Given the description of an element on the screen output the (x, y) to click on. 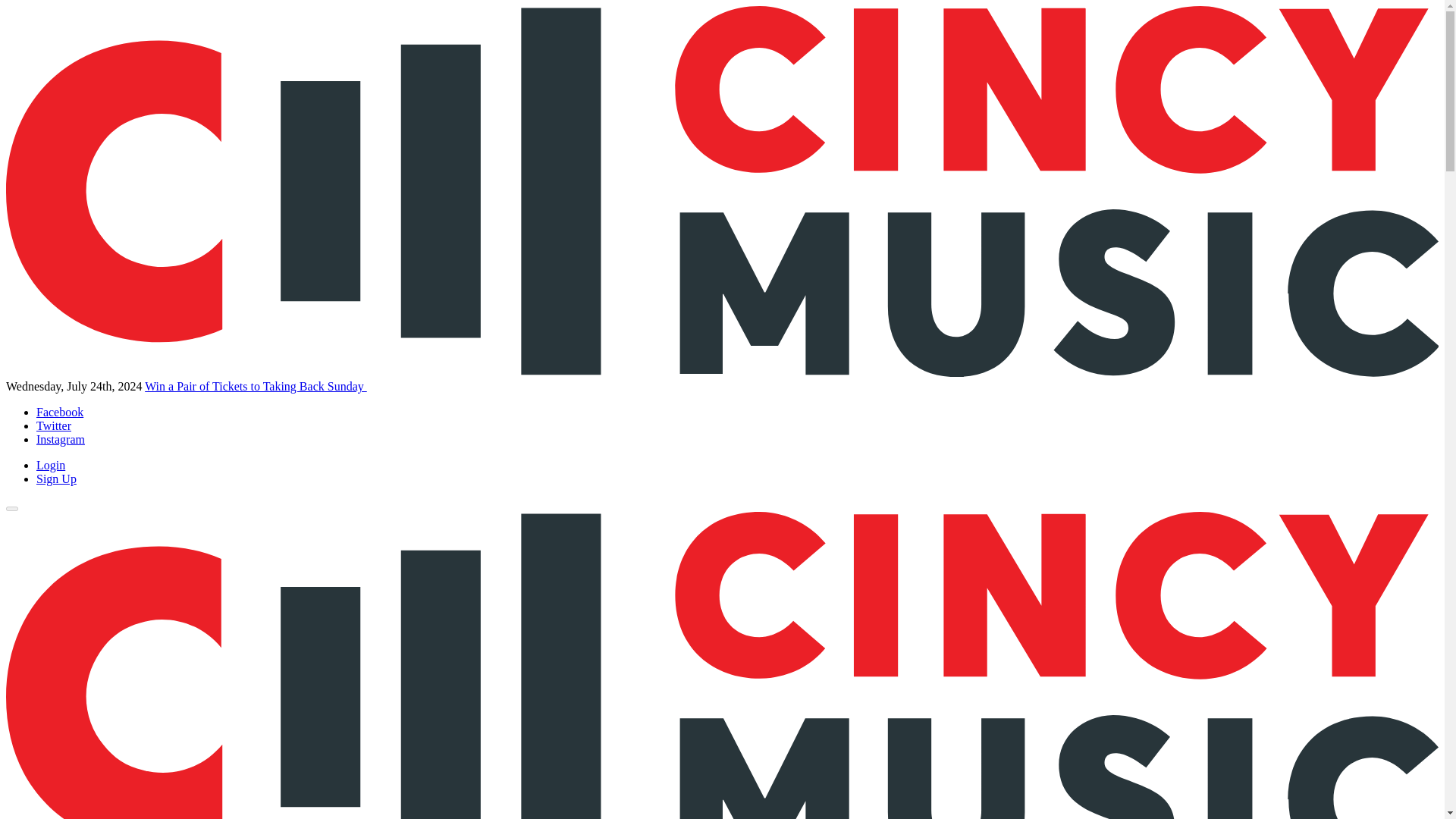
Instagram (60, 439)
Sign Up (56, 478)
Facebook (59, 411)
Login (50, 464)
Twitter (53, 425)
Win a Pair of Tickets to Taking Back Sunday  (255, 386)
